Given the description of an element on the screen output the (x, y) to click on. 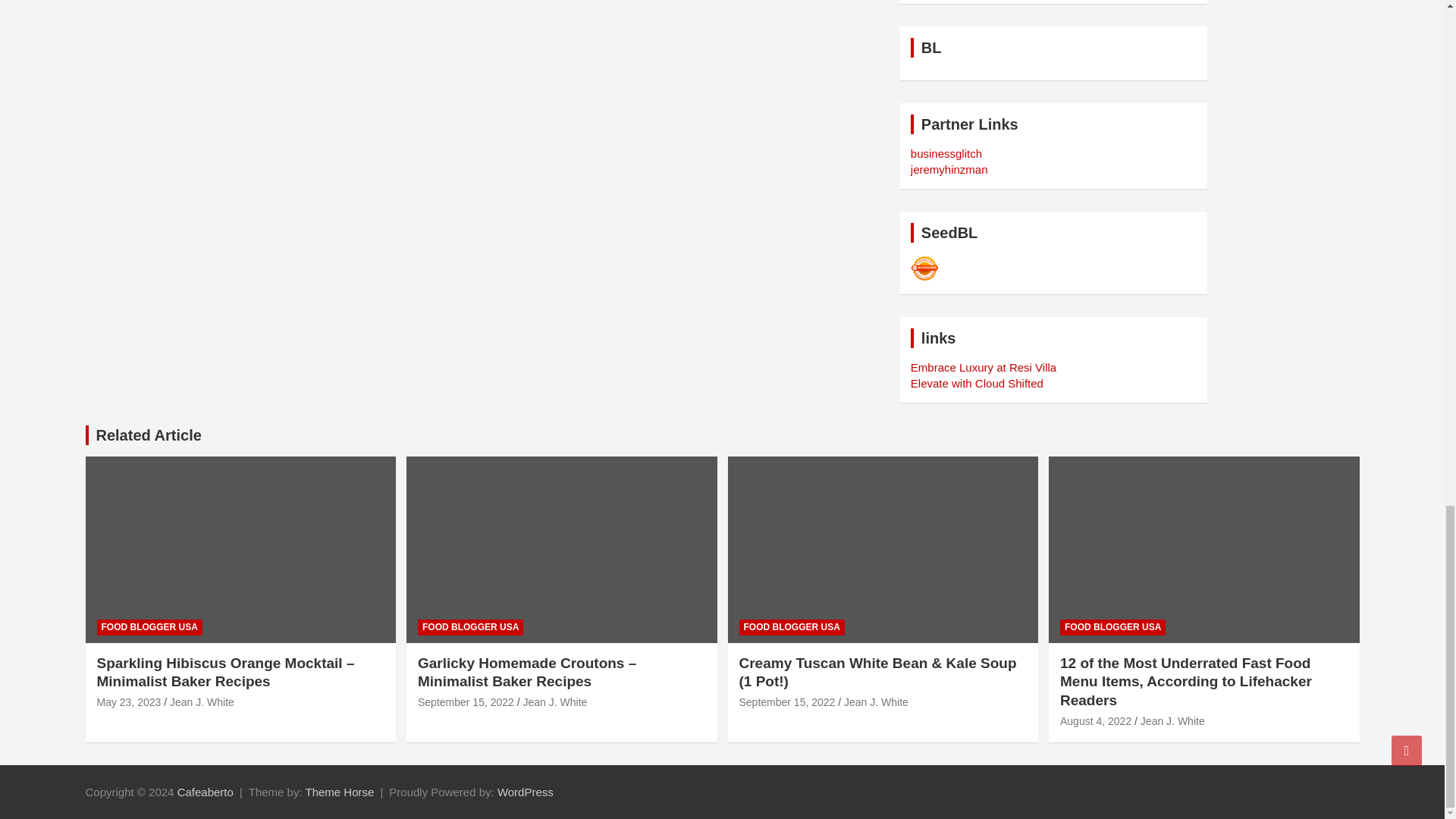
Seedbacklink (925, 267)
businessglitch (946, 153)
Theme Horse (339, 791)
jeremyhinzman (949, 169)
Cafeaberto (204, 791)
